Given the description of an element on the screen output the (x, y) to click on. 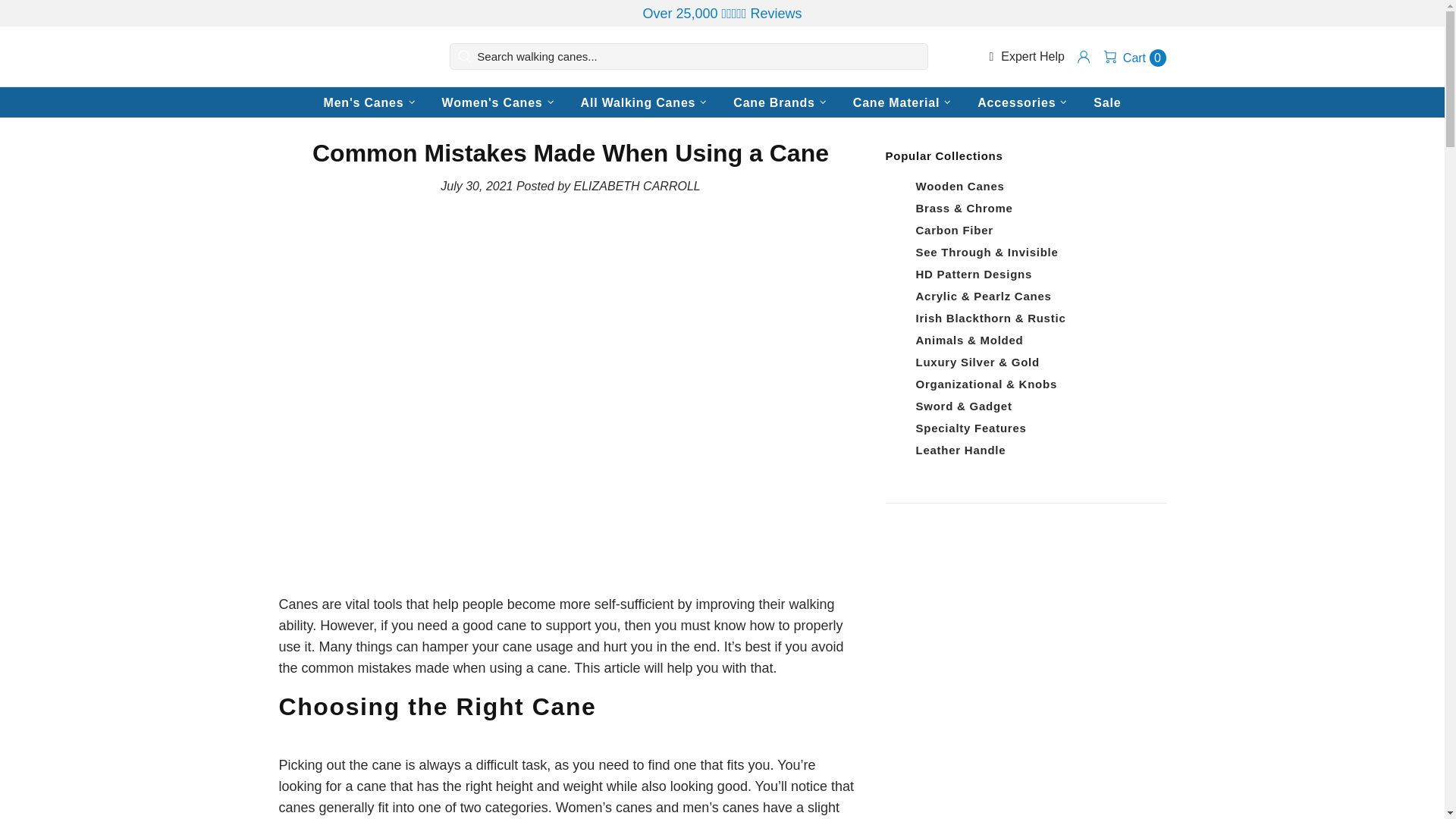
Cart 0 (1134, 55)
Expert Help (1026, 56)
Men's Canes (370, 101)
Fashionable Canes (346, 56)
